Given the description of an element on the screen output the (x, y) to click on. 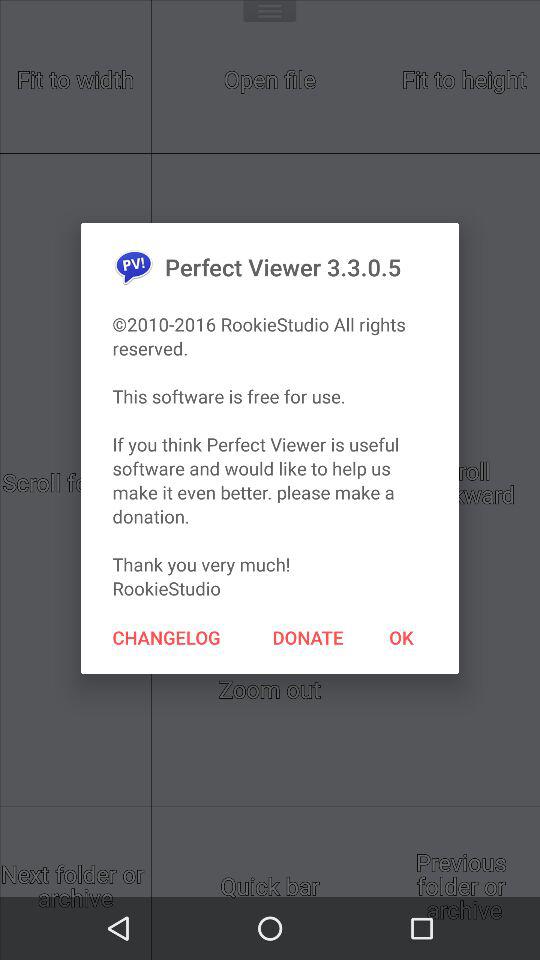
tap icon below 2010 2016 rookiestudio item (307, 637)
